Given the description of an element on the screen output the (x, y) to click on. 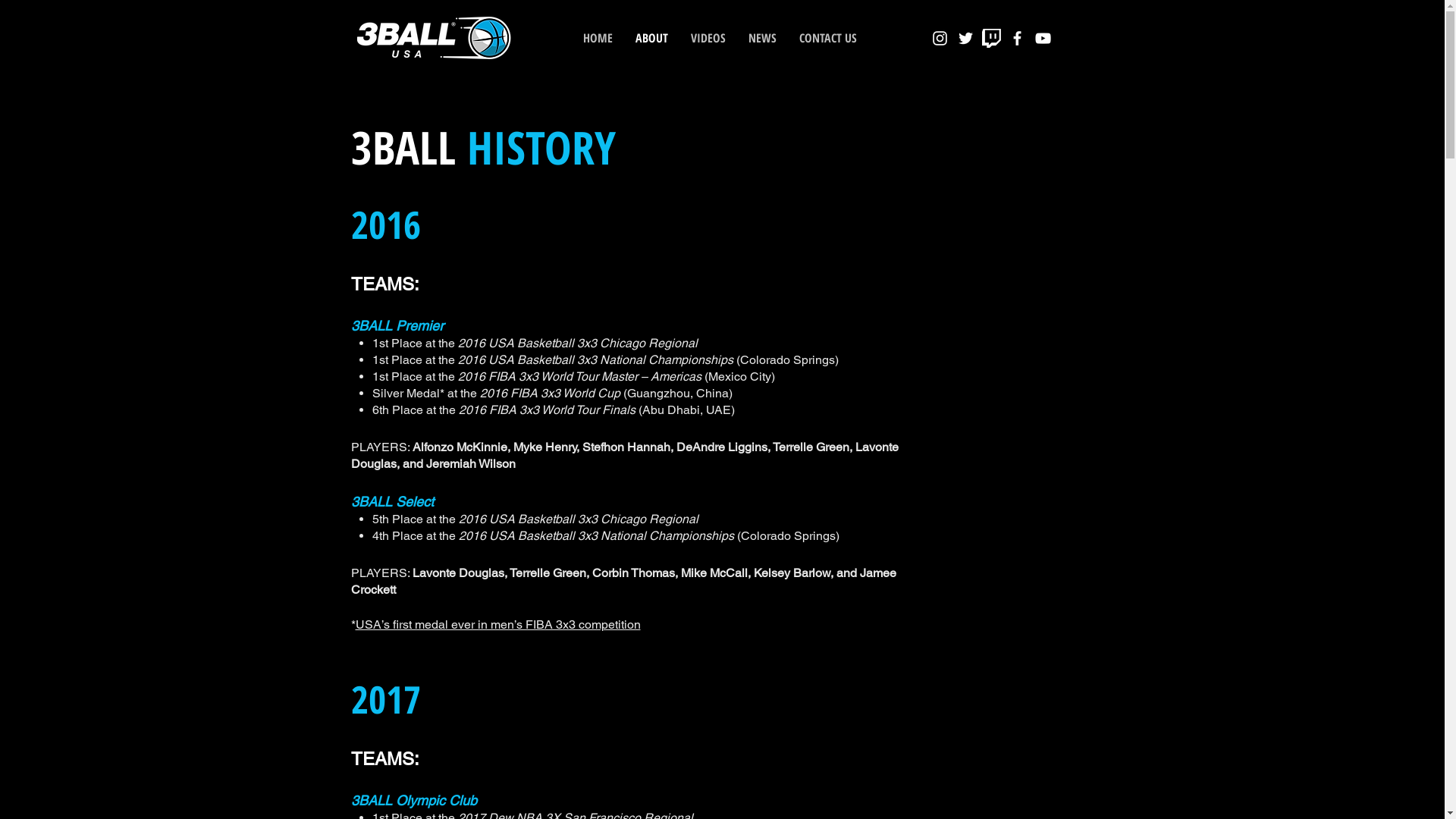
VIDEOS Element type: text (708, 37)
HOME Element type: text (597, 37)
CONTACT US Element type: text (827, 37)
ABOUT Element type: text (650, 37)
